Given the description of an element on the screen output the (x, y) to click on. 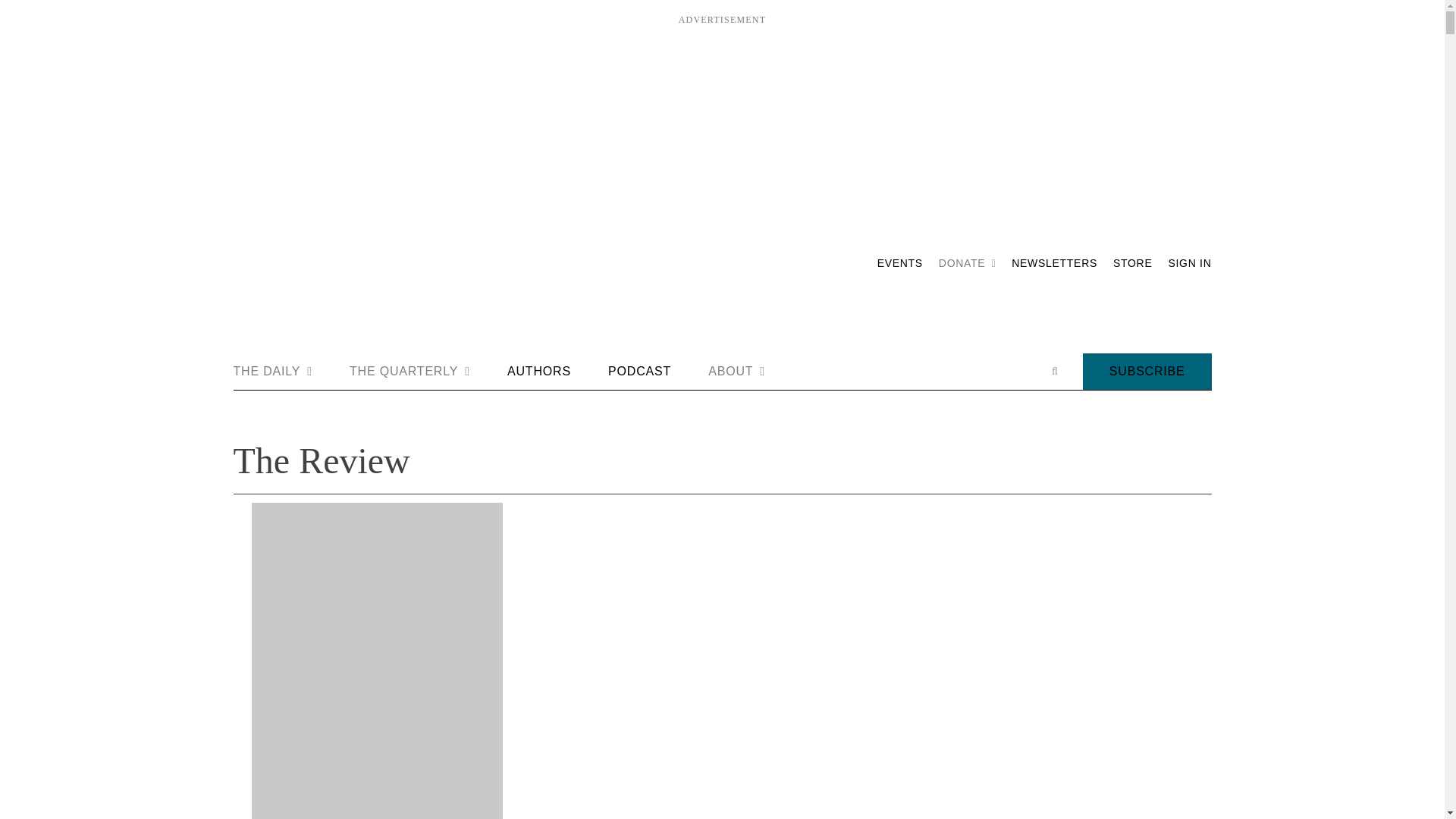
THE DAILY (272, 371)
THE QUARTERLY (409, 371)
Open search (1054, 371)
